Given the description of an element on the screen output the (x, y) to click on. 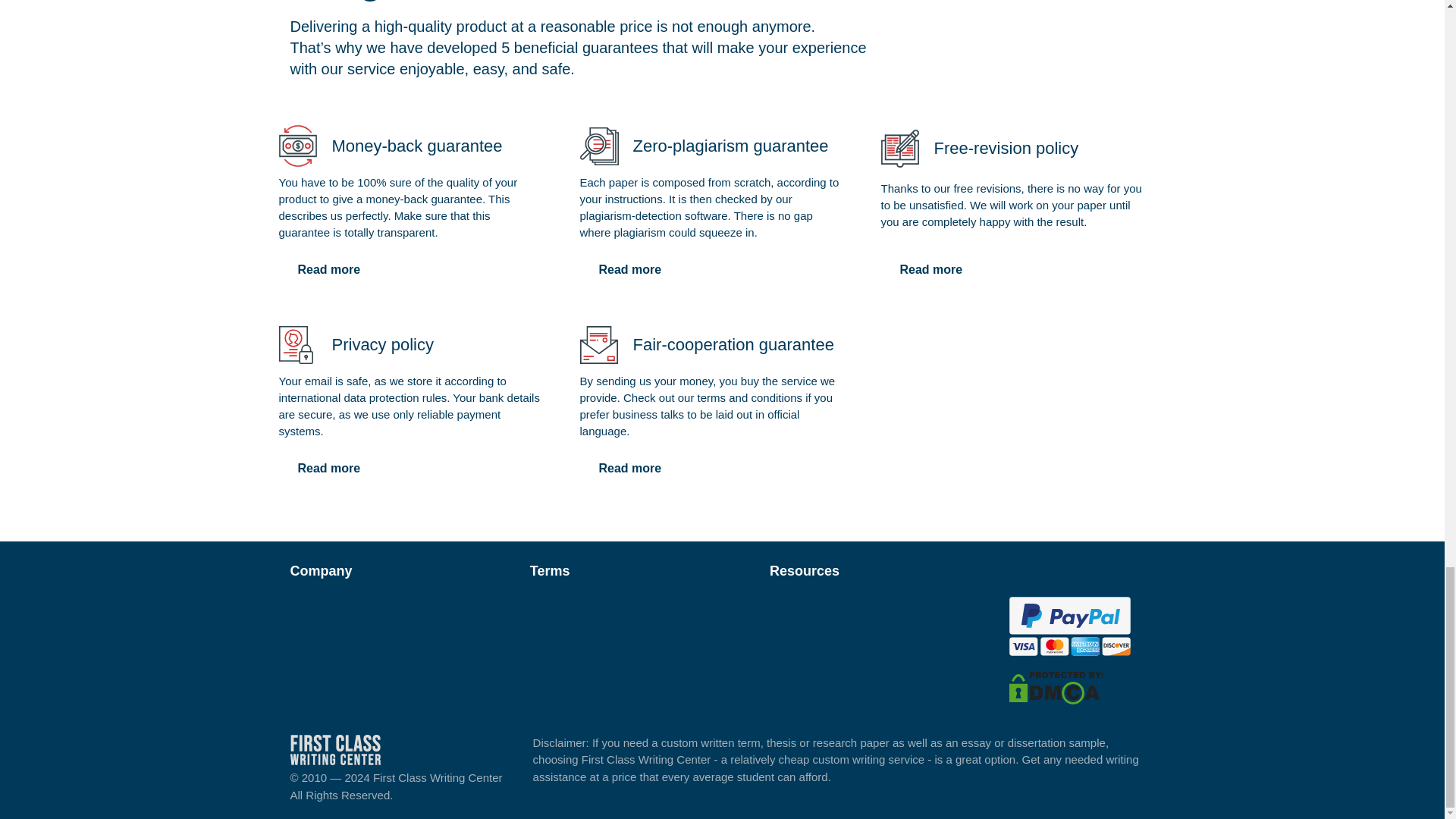
DMCA (1056, 686)
Read more (329, 269)
Read more (930, 269)
Read more (629, 468)
Read more (329, 468)
Read more (629, 269)
